Given the description of an element on the screen output the (x, y) to click on. 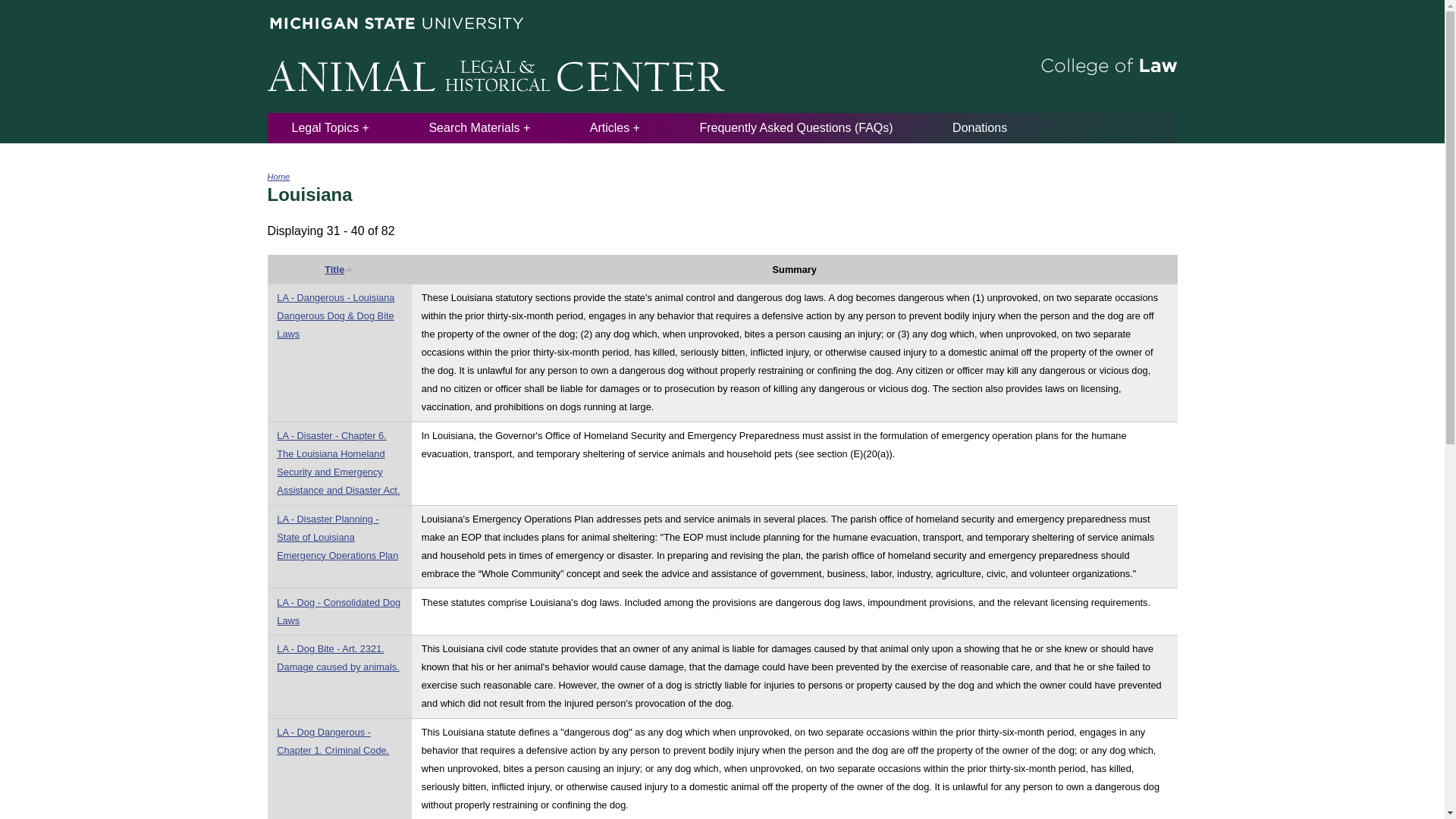
Title (338, 269)
sort by Title (338, 269)
Legal Topics (330, 127)
Donations (979, 127)
LA - Dog Bite - Art. 2321. Damage caused by animals. (337, 657)
LA - Dog Dangerous - Chapter 1. Criminal Code. (332, 740)
Search Materials (479, 127)
sort descending (348, 267)
Home (277, 175)
Articles (615, 127)
LA - Dog - Consolidated Dog Laws (338, 611)
